Given the description of an element on the screen output the (x, y) to click on. 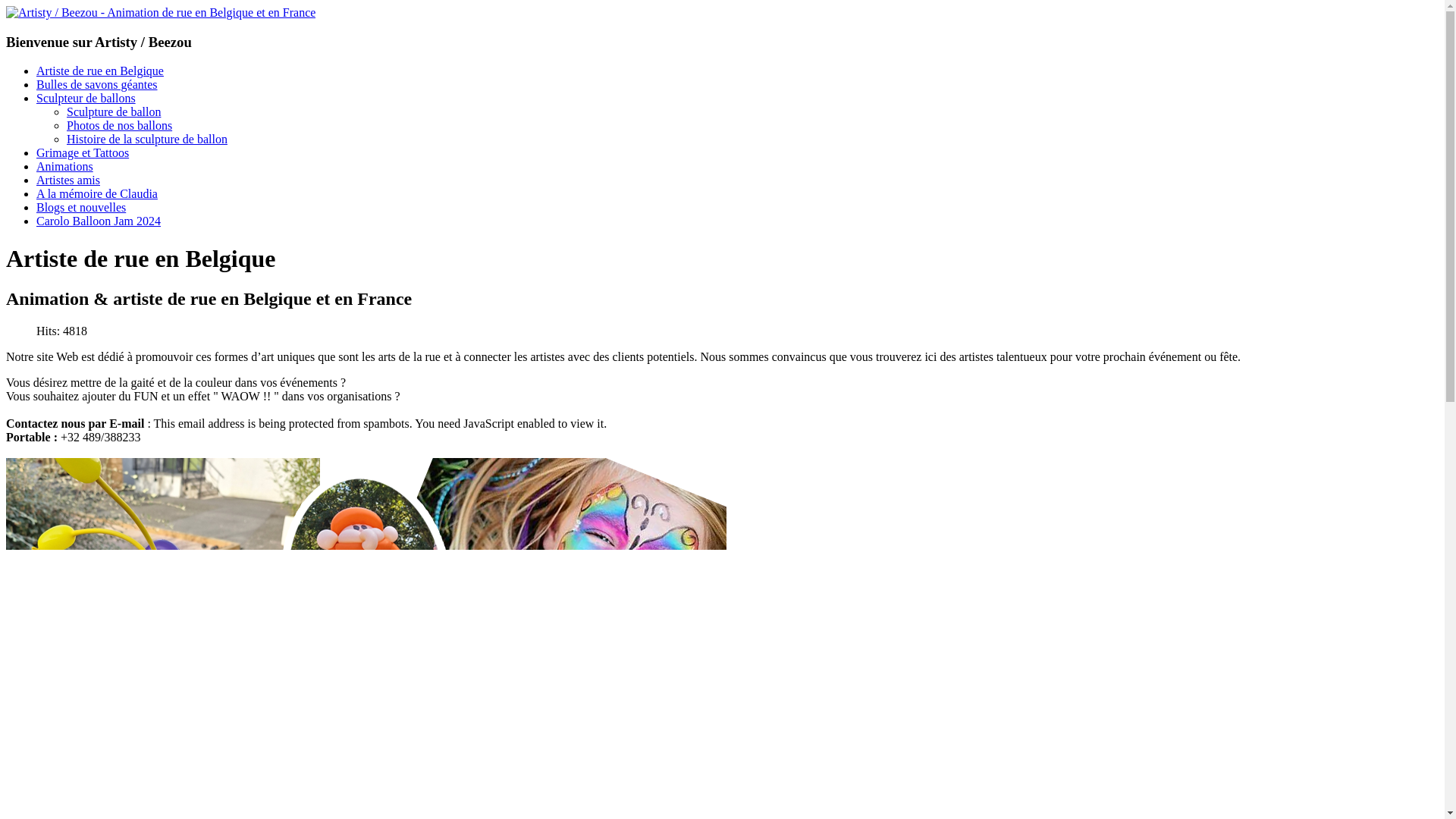
Photos de nos ballons Element type: text (119, 125)
Histoire de la sculpture de ballon Element type: text (146, 138)
Sculpteur de ballons Element type: text (85, 97)
Sculpture de ballon Element type: text (113, 111)
Artiste de rue en Belgique Element type: text (99, 70)
Animations Element type: text (64, 166)
Artistes amis Element type: text (68, 179)
Grimage et Tattoos Element type: text (82, 152)
Blogs et nouvelles Element type: text (80, 206)
Carolo Balloon Jam 2024 Element type: text (98, 220)
